Given the description of an element on the screen output the (x, y) to click on. 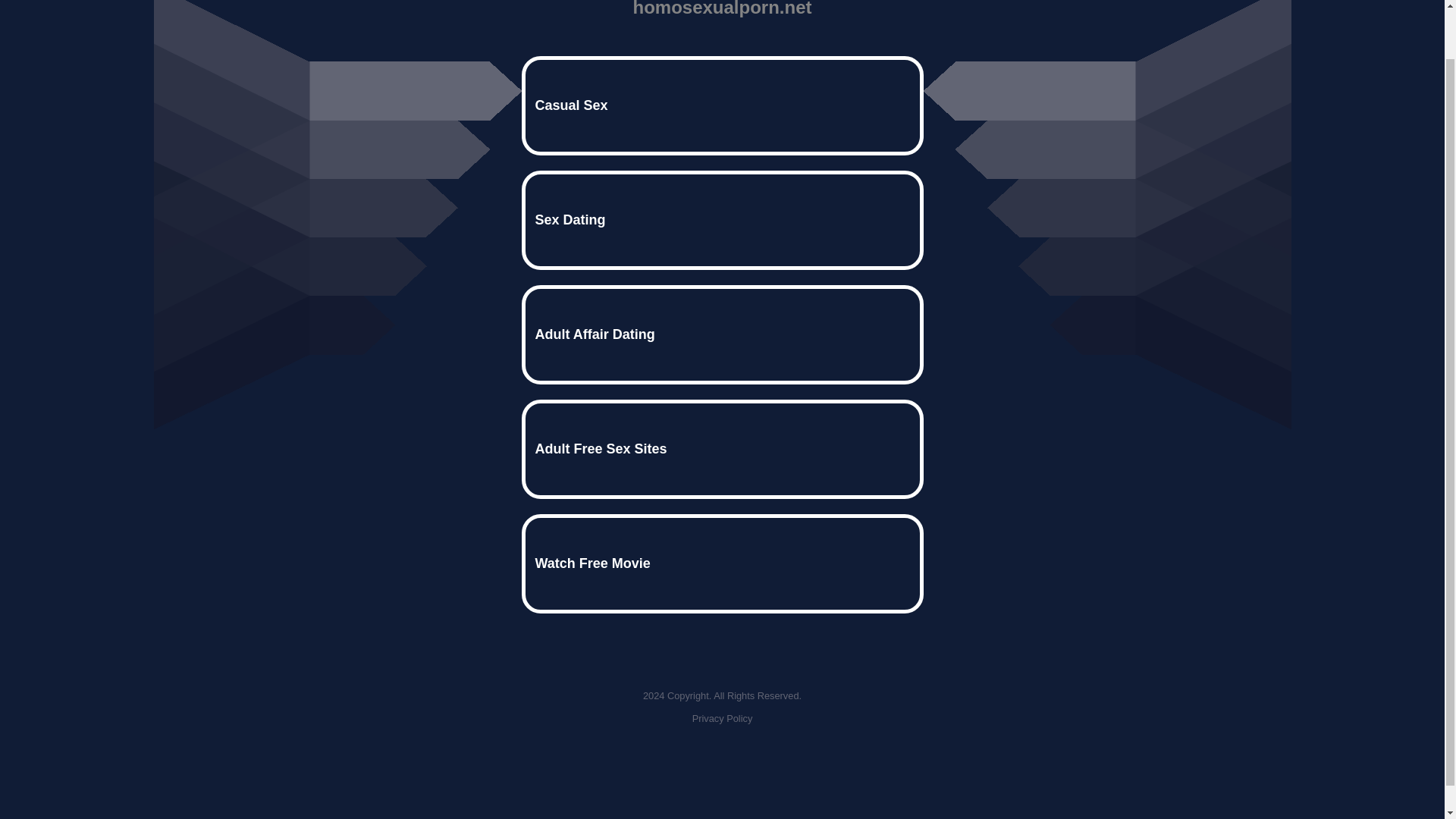
Watch Free Movie (722, 563)
Privacy Policy (722, 717)
Adult Affair Dating (722, 334)
Sex Dating (722, 220)
Adult Free Sex Sites (722, 448)
Casual Sex (722, 105)
